Given the description of an element on the screen output the (x, y) to click on. 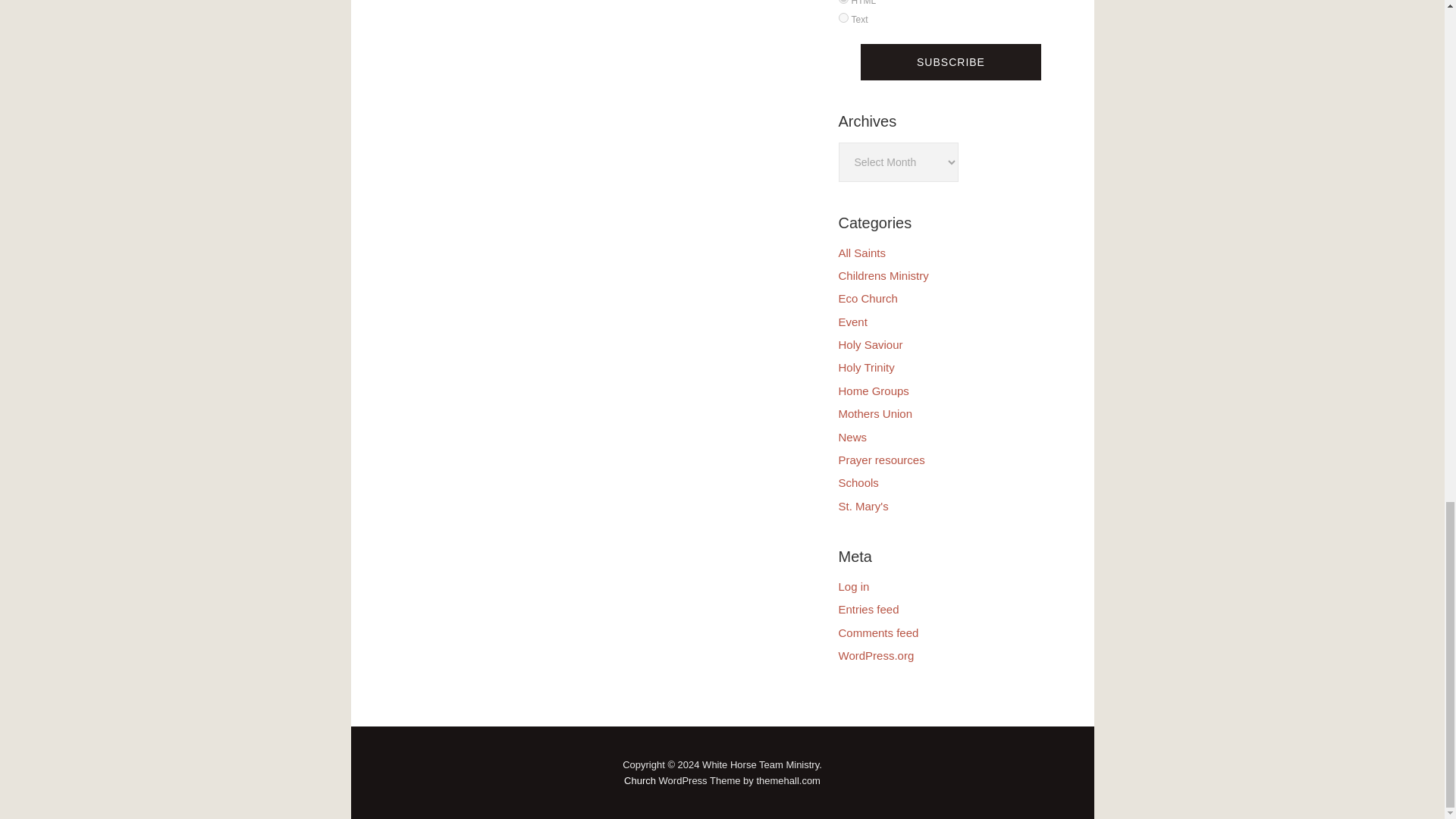
Subscribe (950, 62)
html (843, 2)
Church WordPress Theme (640, 780)
text (843, 17)
